Given the description of an element on the screen output the (x, y) to click on. 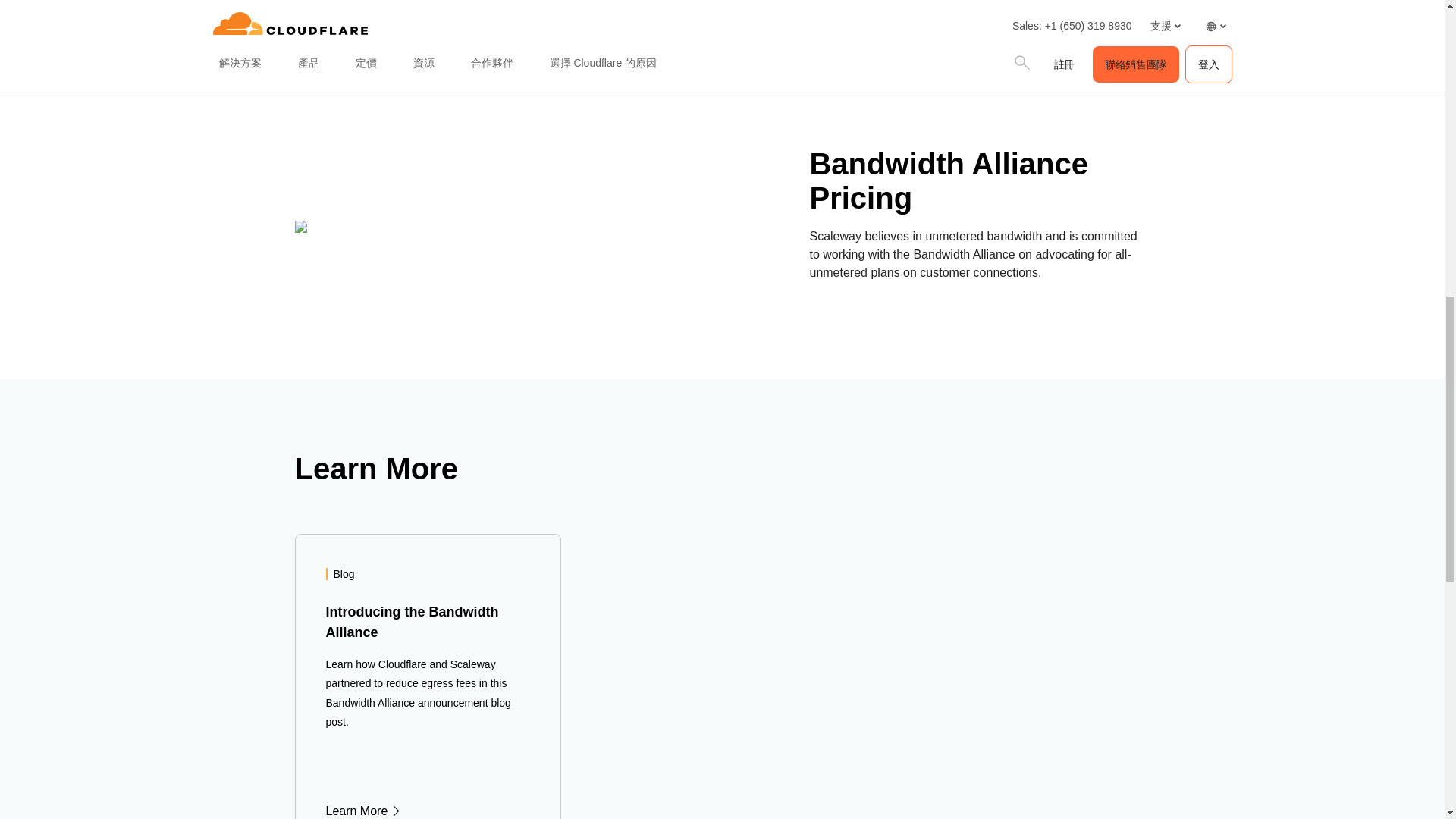
Learn More (428, 809)
